Given the description of an element on the screen output the (x, y) to click on. 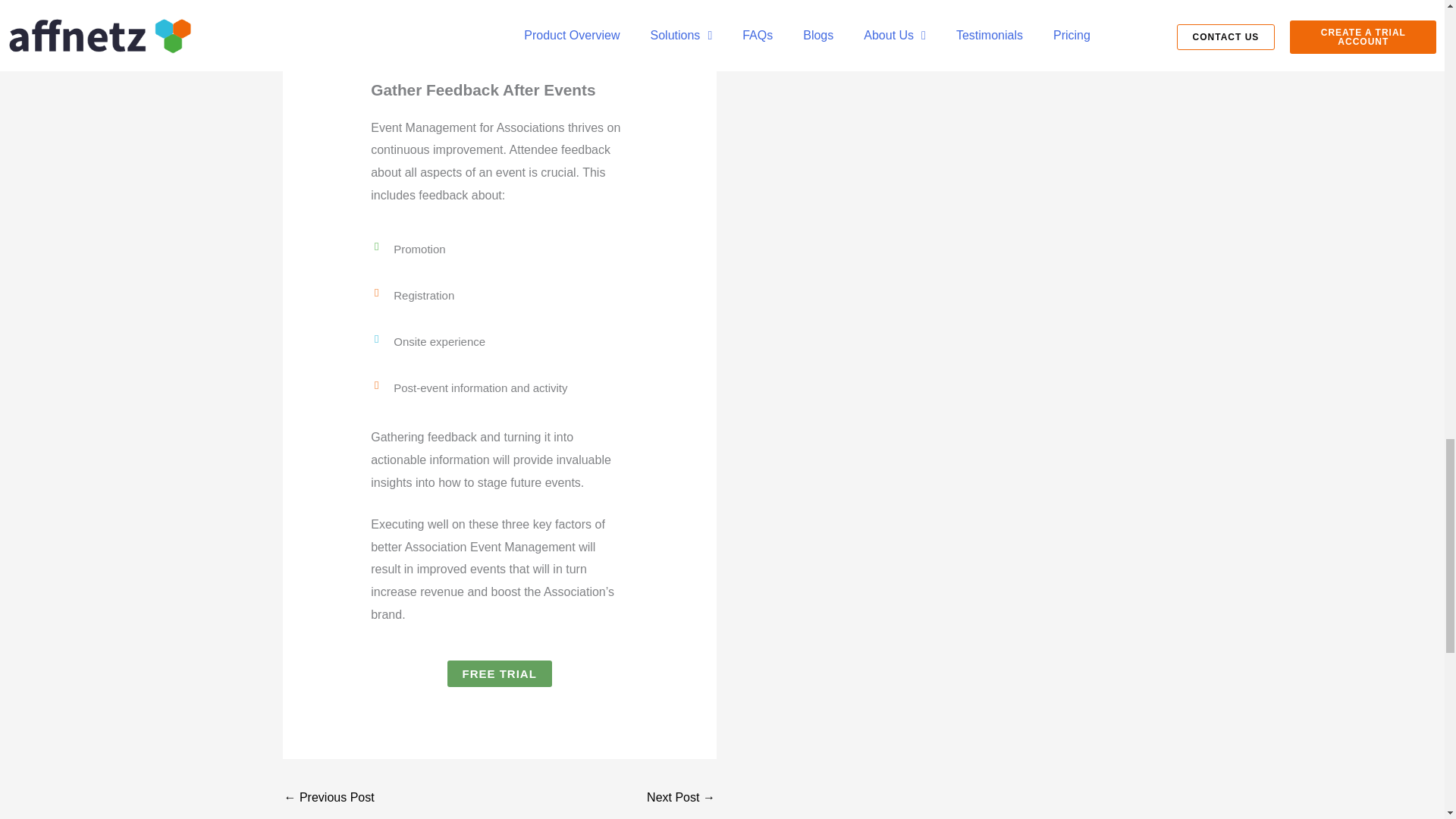
Nonprofit Sponsor Management: A Two-Way Street (328, 798)
The Importance of Capturing Notes in a Nonprofit CRM System (680, 798)
